Given the description of an element on the screen output the (x, y) to click on. 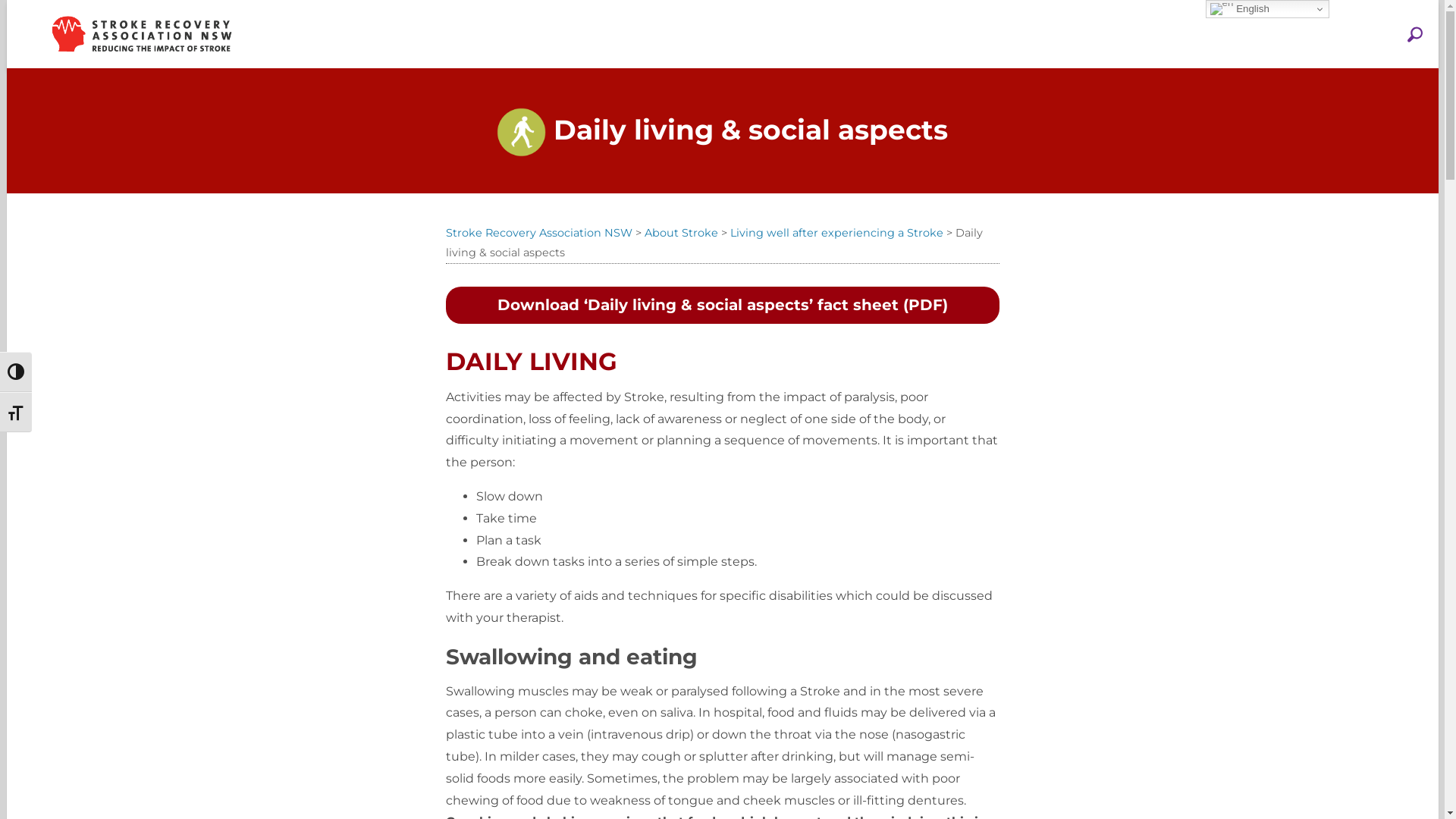
Stroke Recovery Association NSW Element type: text (538, 232)
Living well after experiencing a Stroke Element type: text (835, 232)
Toggle High Contrast Element type: text (15, 371)
About Stroke Element type: text (681, 232)
English Element type: text (1267, 9)
Toggle Font size Element type: text (15, 412)
